Given the description of an element on the screen output the (x, y) to click on. 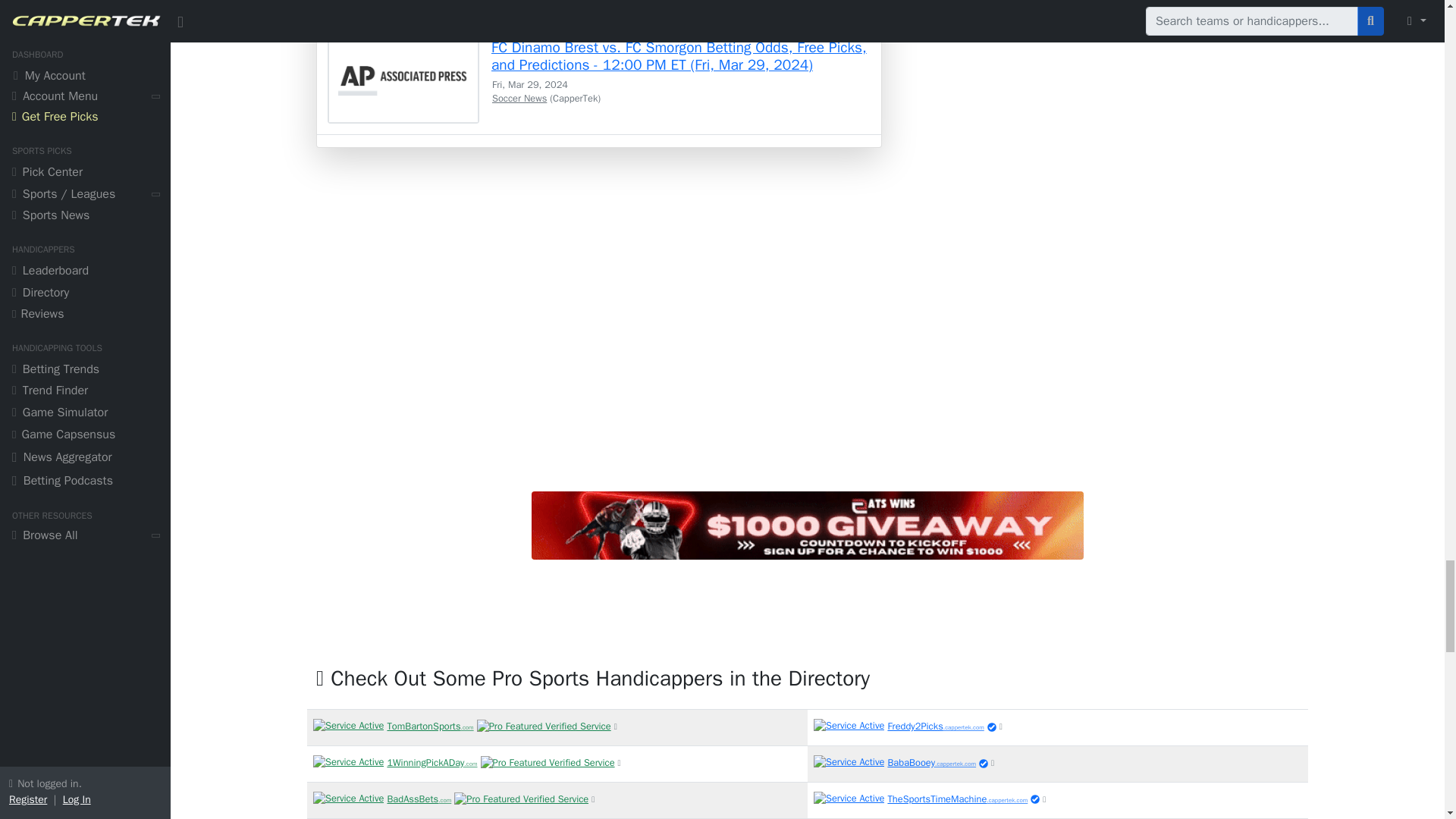
Pro Featured Verified Service (449, 798)
Pro Featured Verified Service (521, 799)
Service Active (348, 762)
Service Active (348, 726)
Pro Featured Verified Service (460, 725)
Pro Featured Verified Service (547, 762)
Service Active (348, 798)
Pro Featured Verified Service (462, 761)
Pro Featured Verified Service (544, 726)
